Given the description of an element on the screen output the (x, y) to click on. 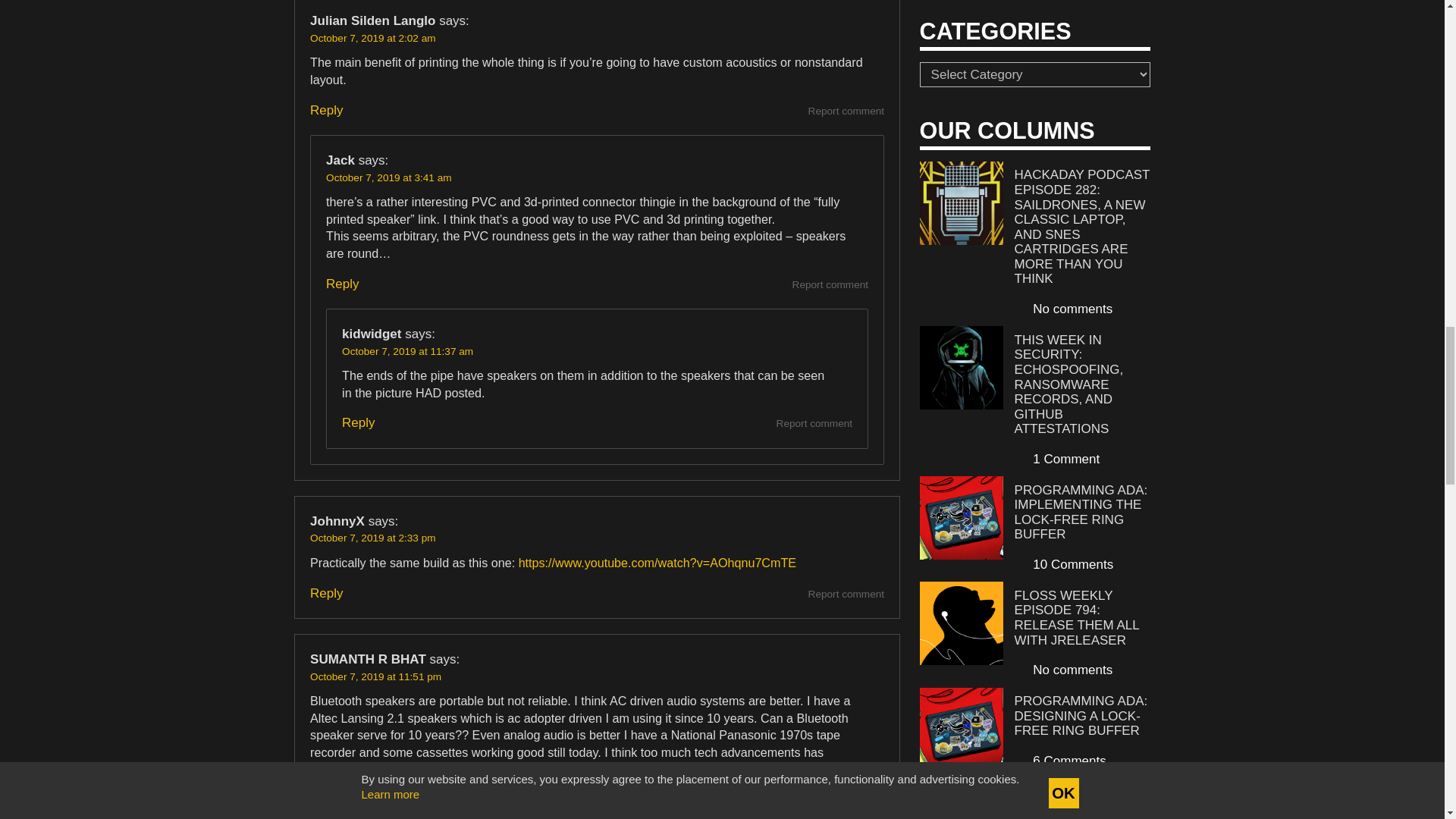
October 7, 2019 at 2:02 am (372, 38)
